Given the description of an element on the screen output the (x, y) to click on. 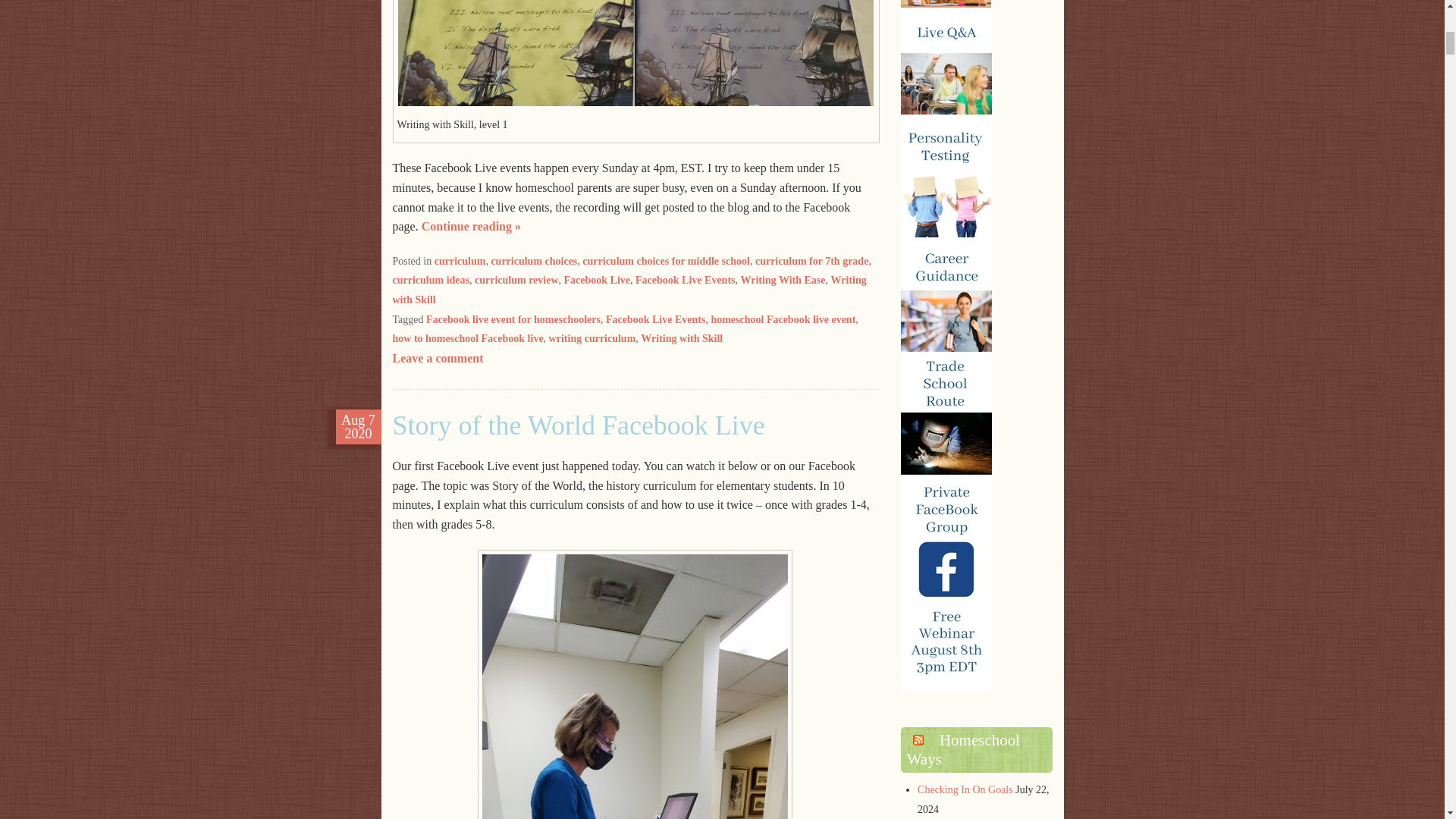
Permanent Link to Story of the World Facebook Live (358, 426)
